Given the description of an element on the screen output the (x, y) to click on. 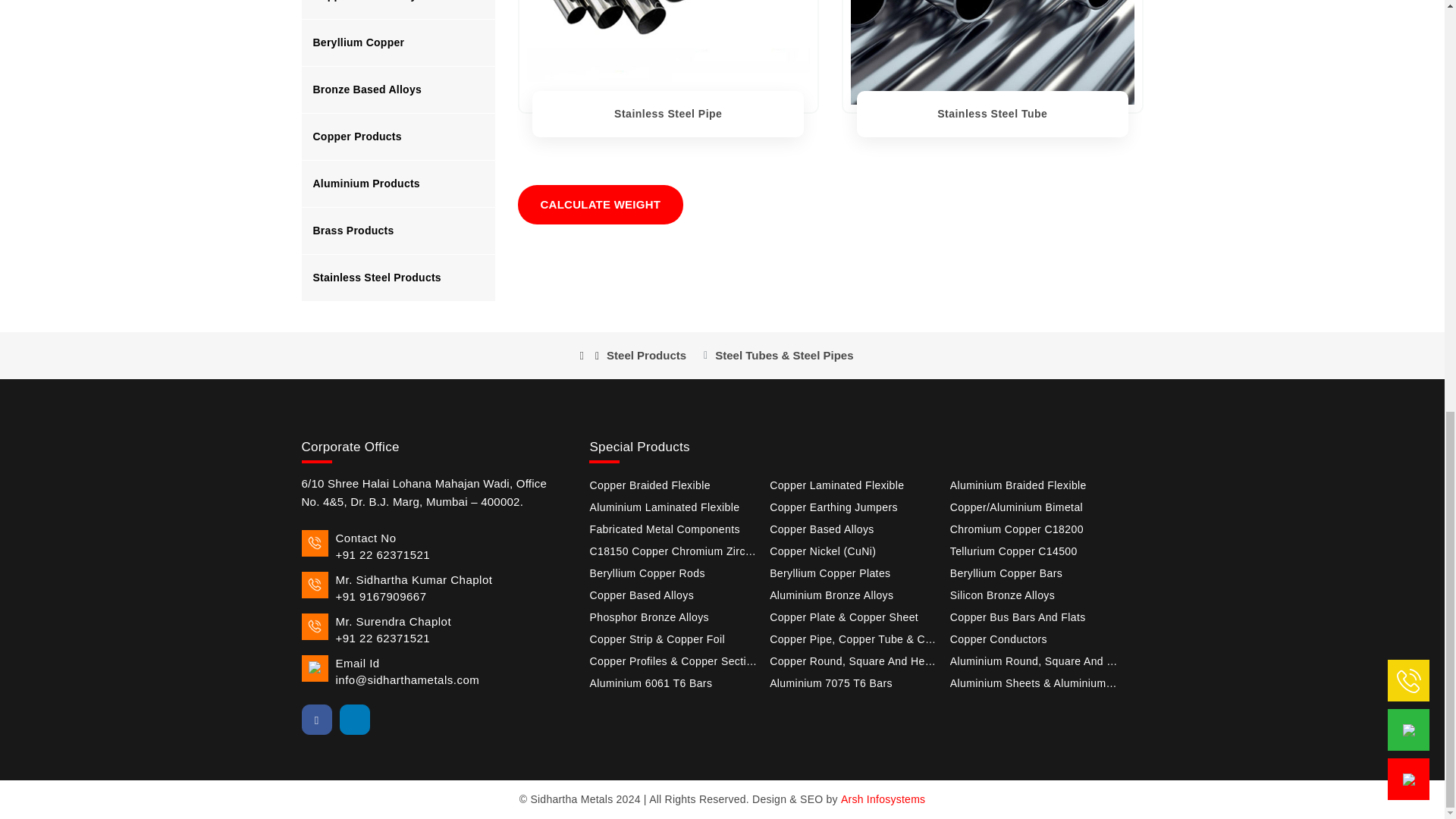
Tel (434, 546)
Email (434, 672)
Tel (434, 588)
Linkedin (354, 719)
Twitter (392, 719)
Tel (434, 630)
Facebook (316, 719)
